Given the description of an element on the screen output the (x, y) to click on. 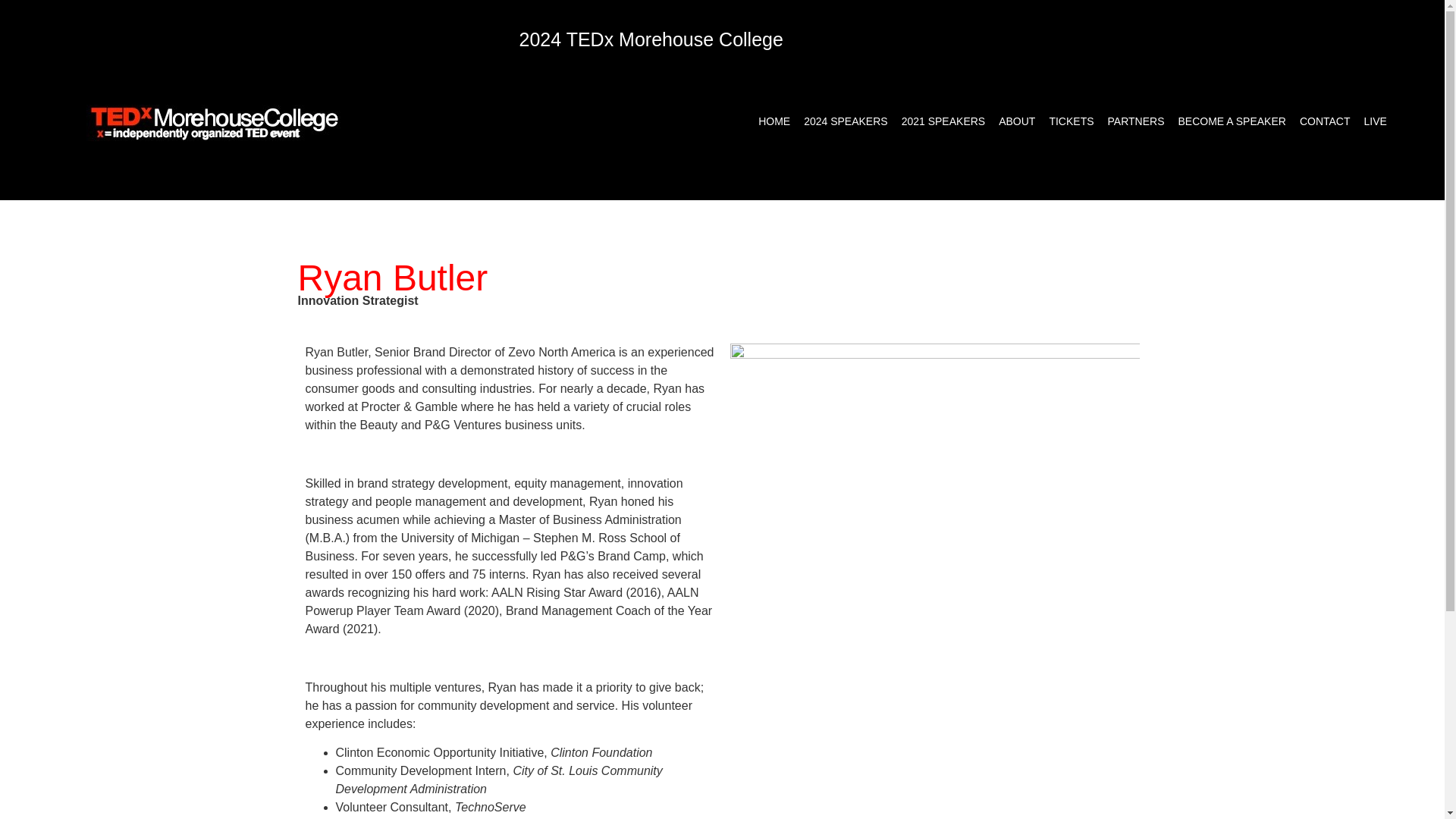
ABOUT (1016, 121)
LIVE (1374, 121)
PARTNERS (1136, 121)
TICKETS (1071, 121)
2024 SPEAKERS (845, 121)
BECOME A SPEAKER (1231, 121)
2021 SPEAKERS (943, 121)
CONTACT (1324, 121)
HOME (773, 121)
